Given the description of an element on the screen output the (x, y) to click on. 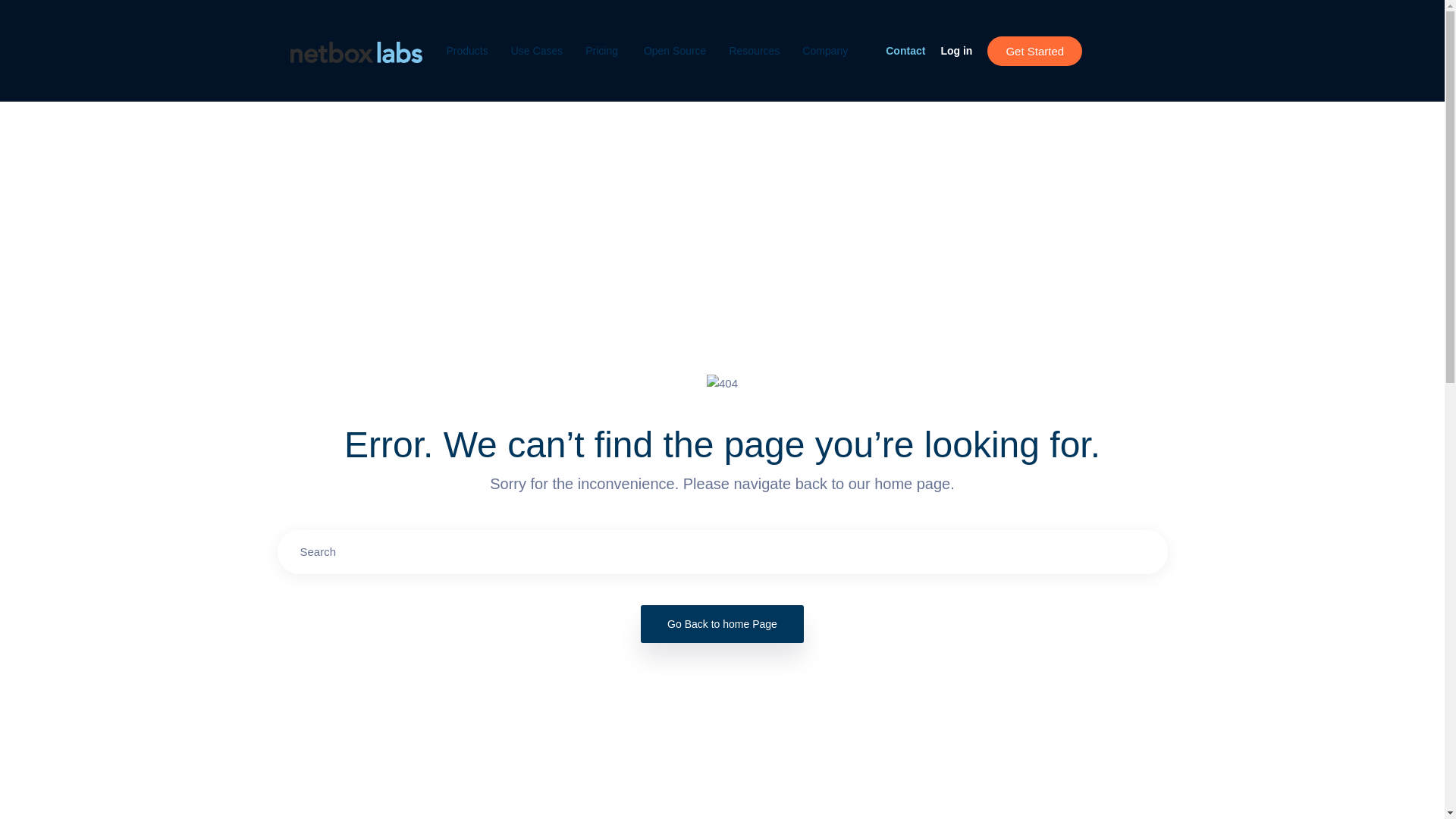
Resources (753, 50)
Products (466, 50)
Products (466, 50)
Pricing (603, 50)
Use Cases (536, 50)
Open Source (674, 50)
Pricing  (603, 50)
Use Cases (536, 50)
Open Source (674, 50)
